Given the description of an element on the screen output the (x, y) to click on. 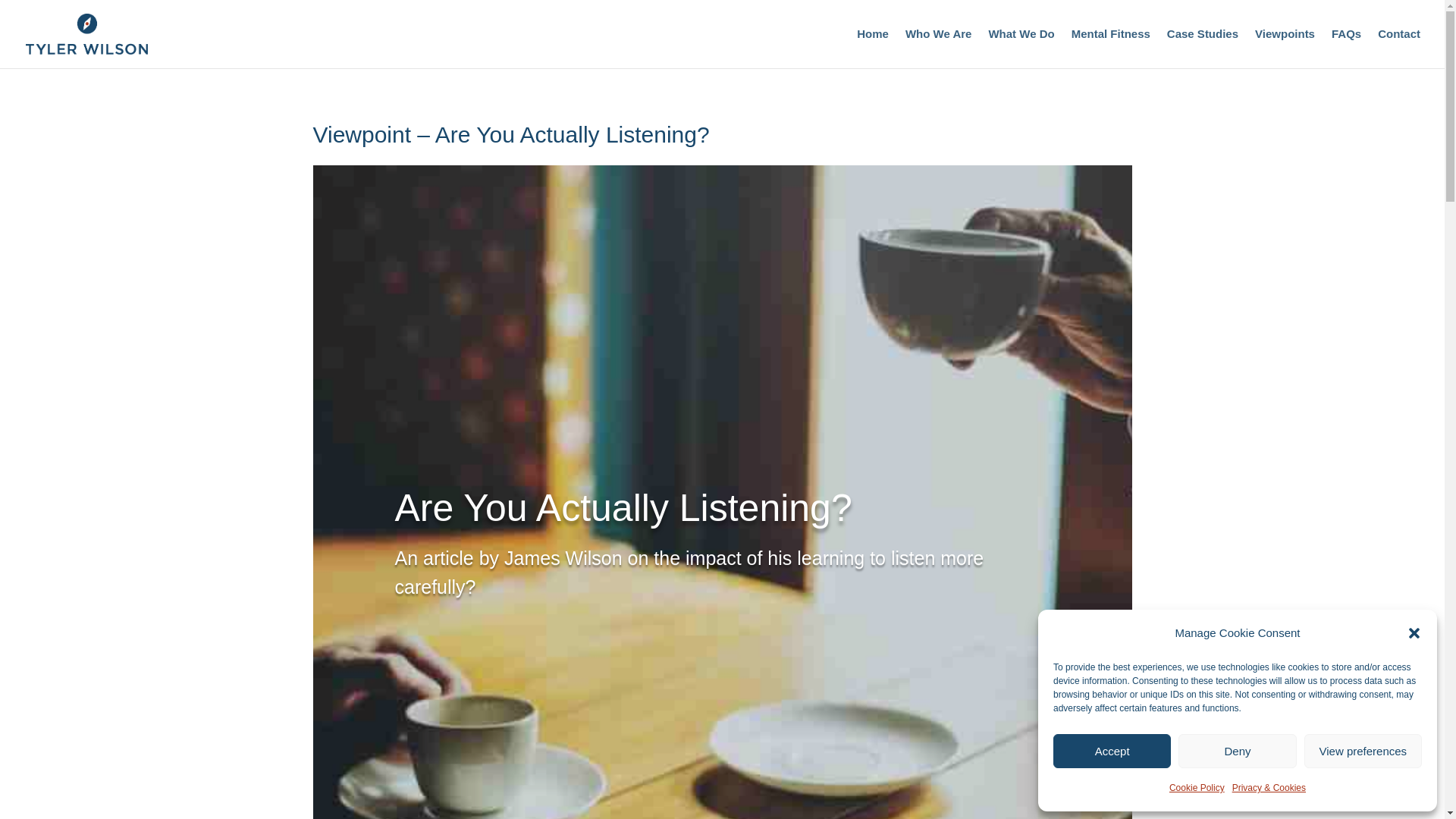
Case Studies (1203, 47)
Cookie Policy (1196, 787)
Viewpoints (1284, 47)
Deny (1236, 750)
What We Do (1021, 47)
Mental Fitness (1110, 47)
Who We Are (938, 47)
View preferences (1363, 750)
Contact (1399, 47)
Accept (1111, 750)
